Given the description of an element on the screen output the (x, y) to click on. 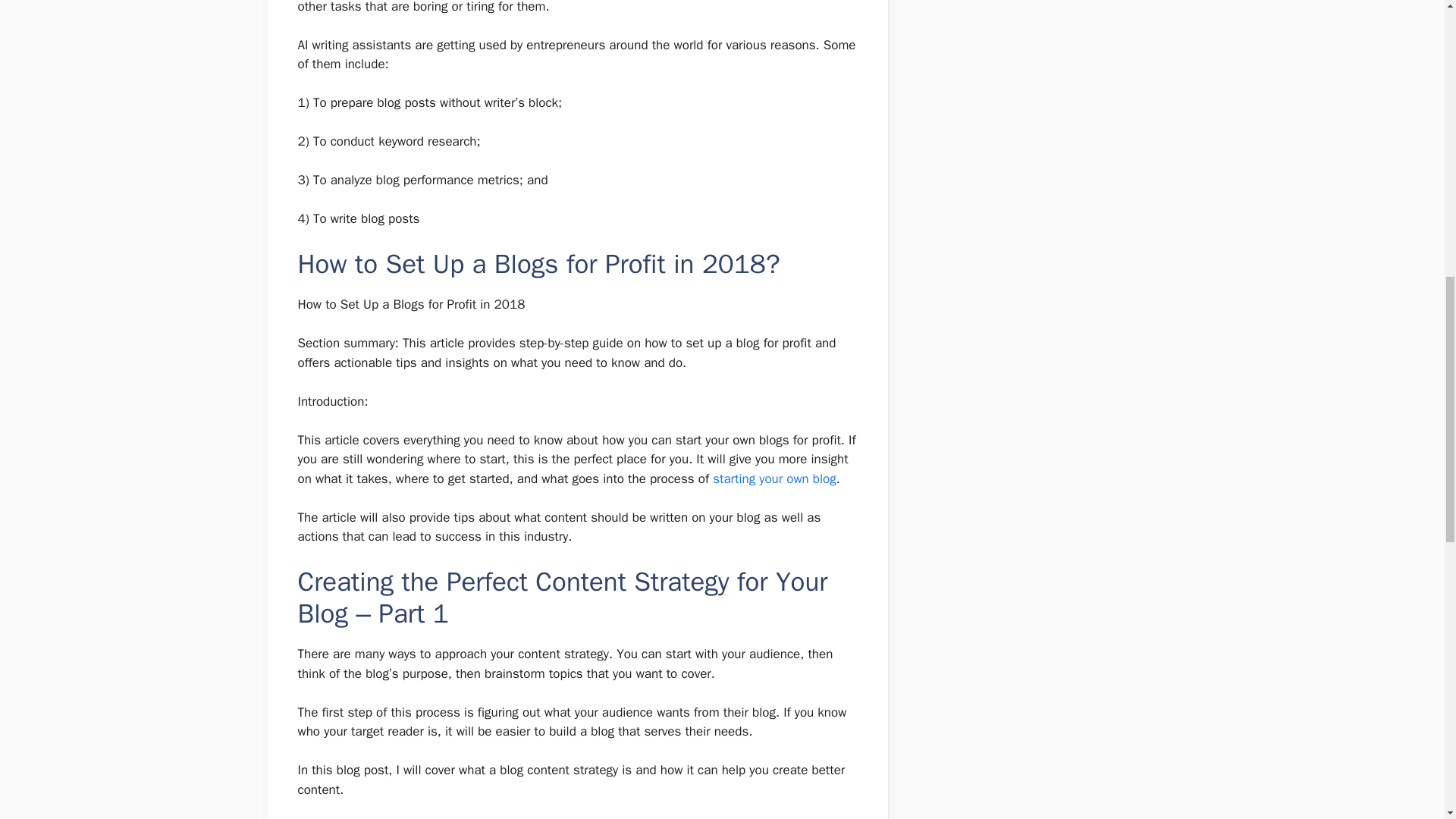
starting your own blog (774, 478)
